Given the description of an element on the screen output the (x, y) to click on. 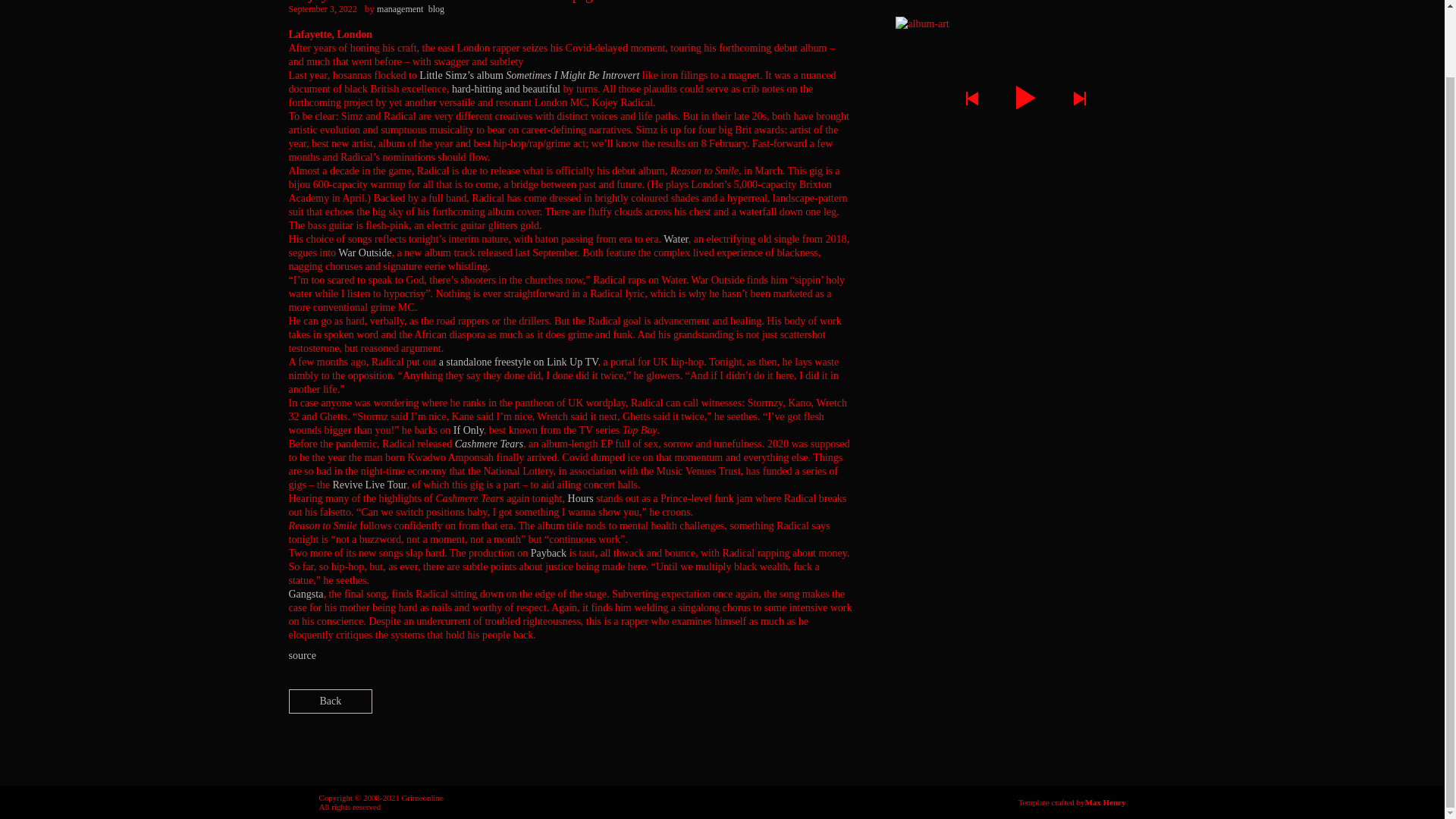
Back (330, 701)
Gangsta (305, 593)
Cashmere Tears (488, 443)
If Only (467, 430)
War Outside (364, 252)
Hours (580, 498)
source (301, 655)
Water (675, 238)
Payback (548, 552)
hard-hitting and beautiful (505, 89)
